Given the description of an element on the screen output the (x, y) to click on. 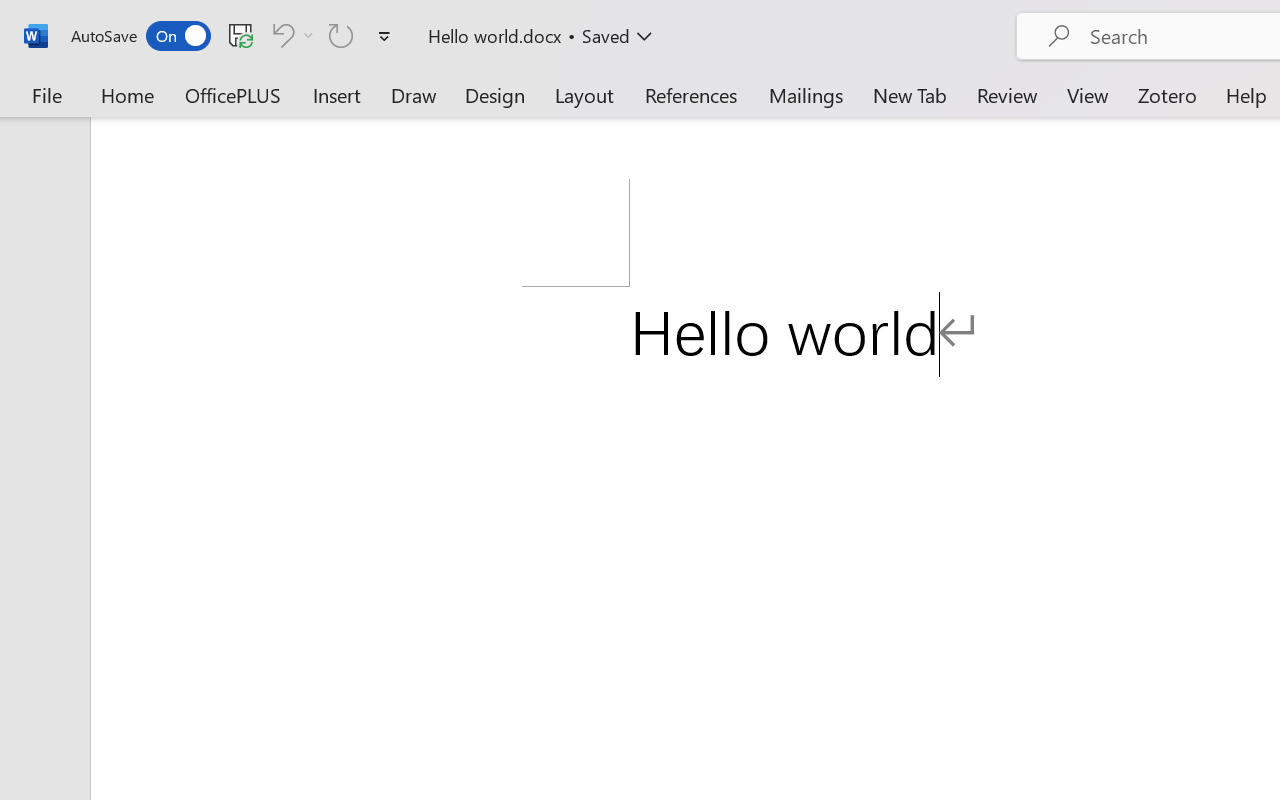
Design (495, 94)
References (690, 94)
Mailings (806, 94)
Can't Undo (290, 35)
File Tab (46, 94)
Customize Quick Access Toolbar (384, 35)
Layout (584, 94)
